Given the description of an element on the screen output the (x, y) to click on. 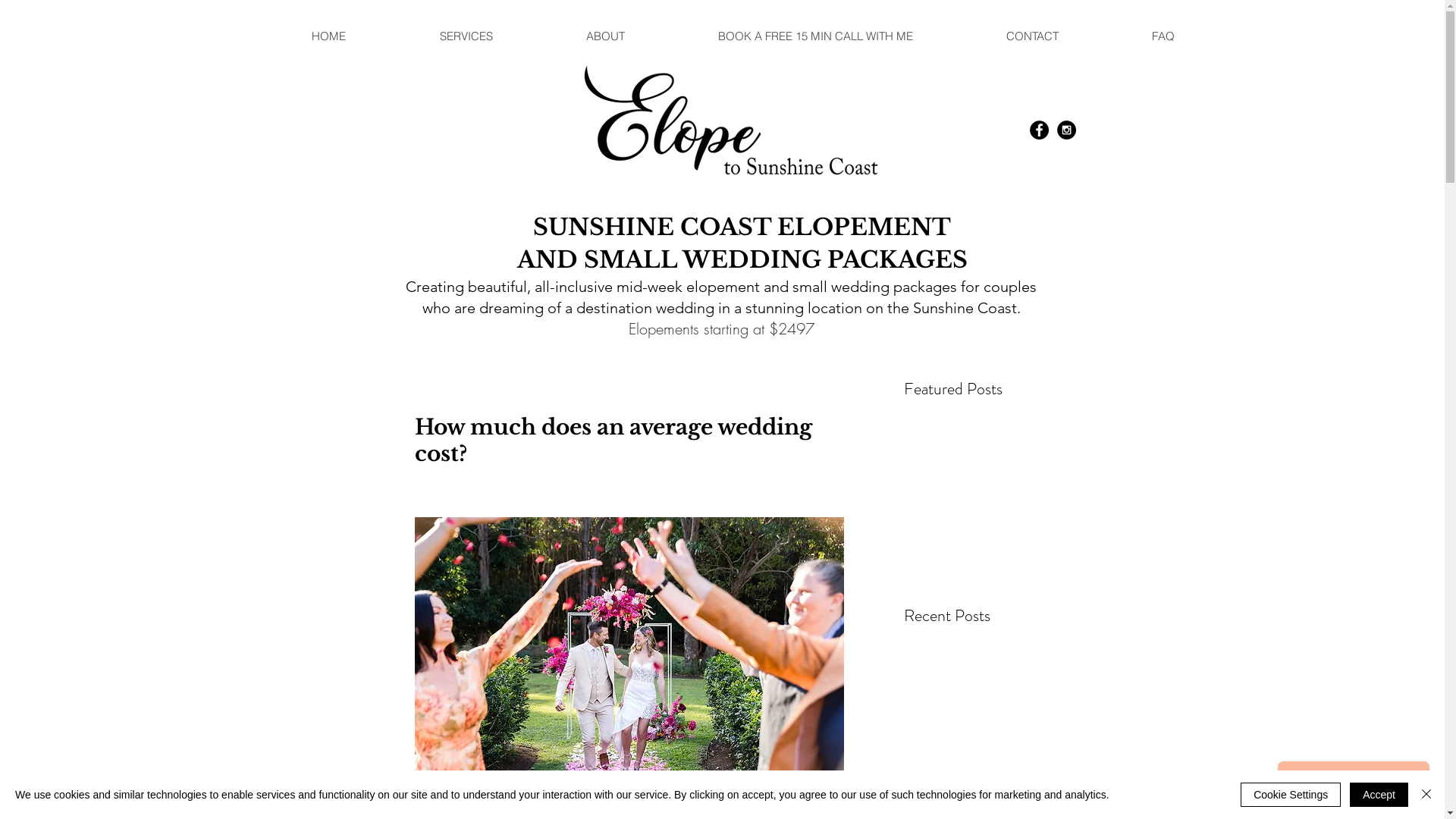
ABOUT Element type: text (604, 36)
Accept Element type: text (1378, 794)
BACK TO TOP Element type: text (56, 792)
CONTACT Element type: text (1031, 36)
HOME Element type: text (328, 36)
Cookie Settings Element type: text (1290, 794)
BOOK A FREE 15 MIN CALL WITH ME Element type: text (814, 36)
FAQ Element type: text (1162, 36)
